Given the description of an element on the screen output the (x, y) to click on. 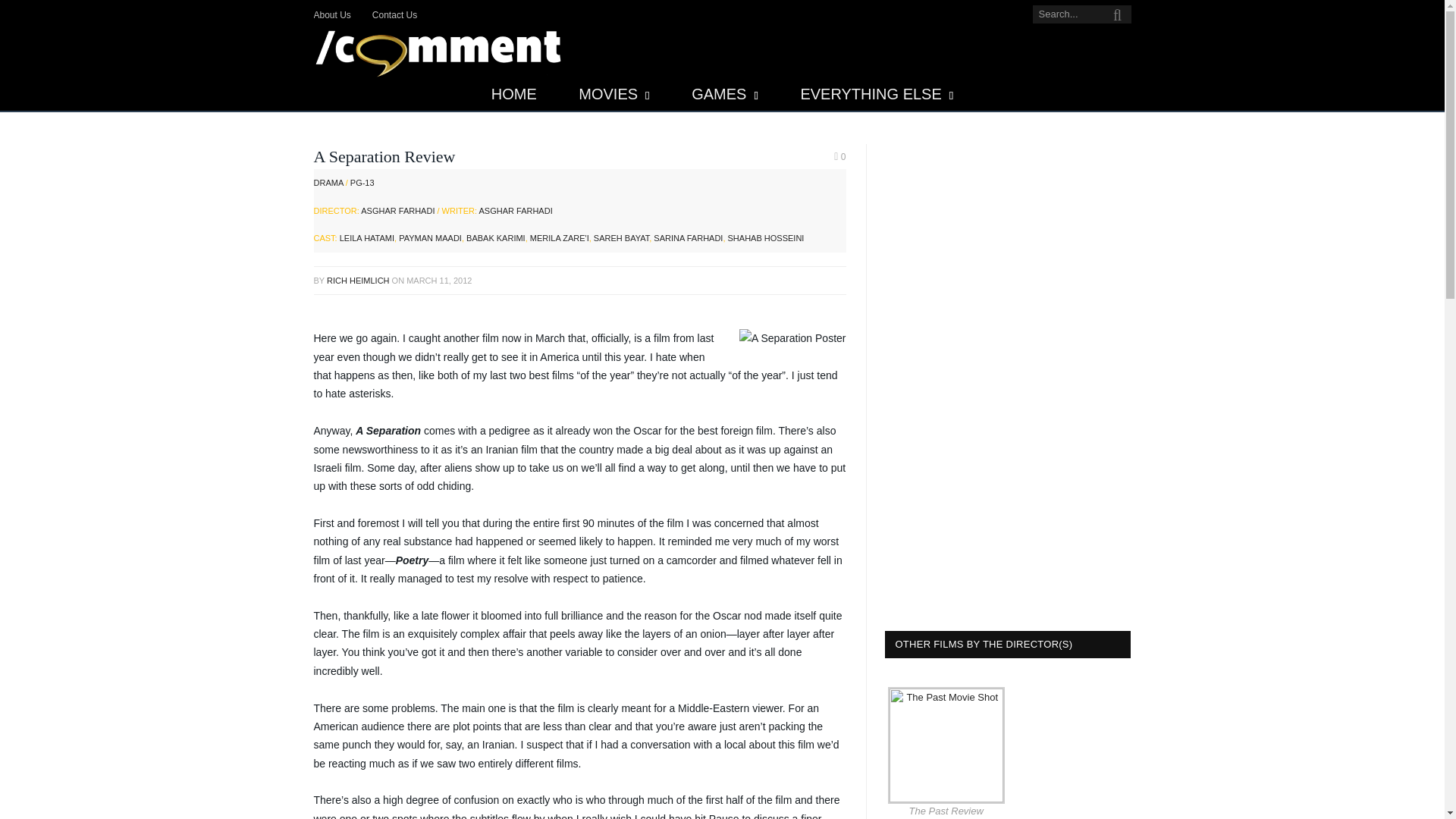
RICH HEIMLICH (358, 280)
BABAK KARIMI (495, 237)
Posts by Rich Heimlich (358, 280)
DRAMA (328, 182)
SHAHAB HOSSEINI (766, 237)
About Us (332, 14)
PG-13 (362, 182)
MERILA ZARE'I (559, 237)
HOME (513, 94)
MOVIES (613, 94)
EVERYTHING ELSE (876, 94)
2012-03-11 (438, 280)
SAREH BAYAT (621, 237)
ASGHAR FARHADI (516, 210)
ASGHAR FARHADI (397, 210)
